Given the description of an element on the screen output the (x, y) to click on. 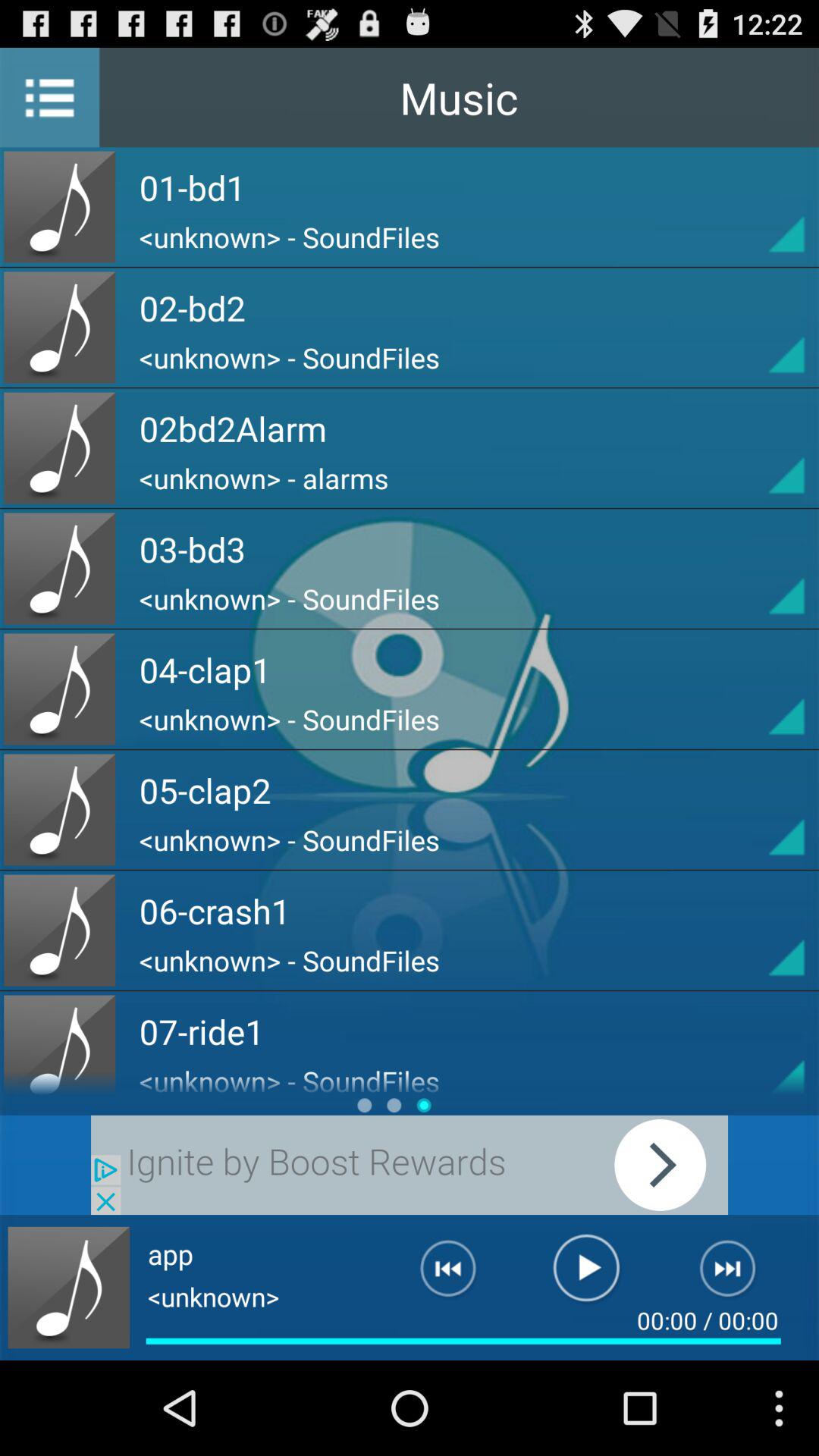
go to next song (737, 1274)
